Given the description of an element on the screen output the (x, y) to click on. 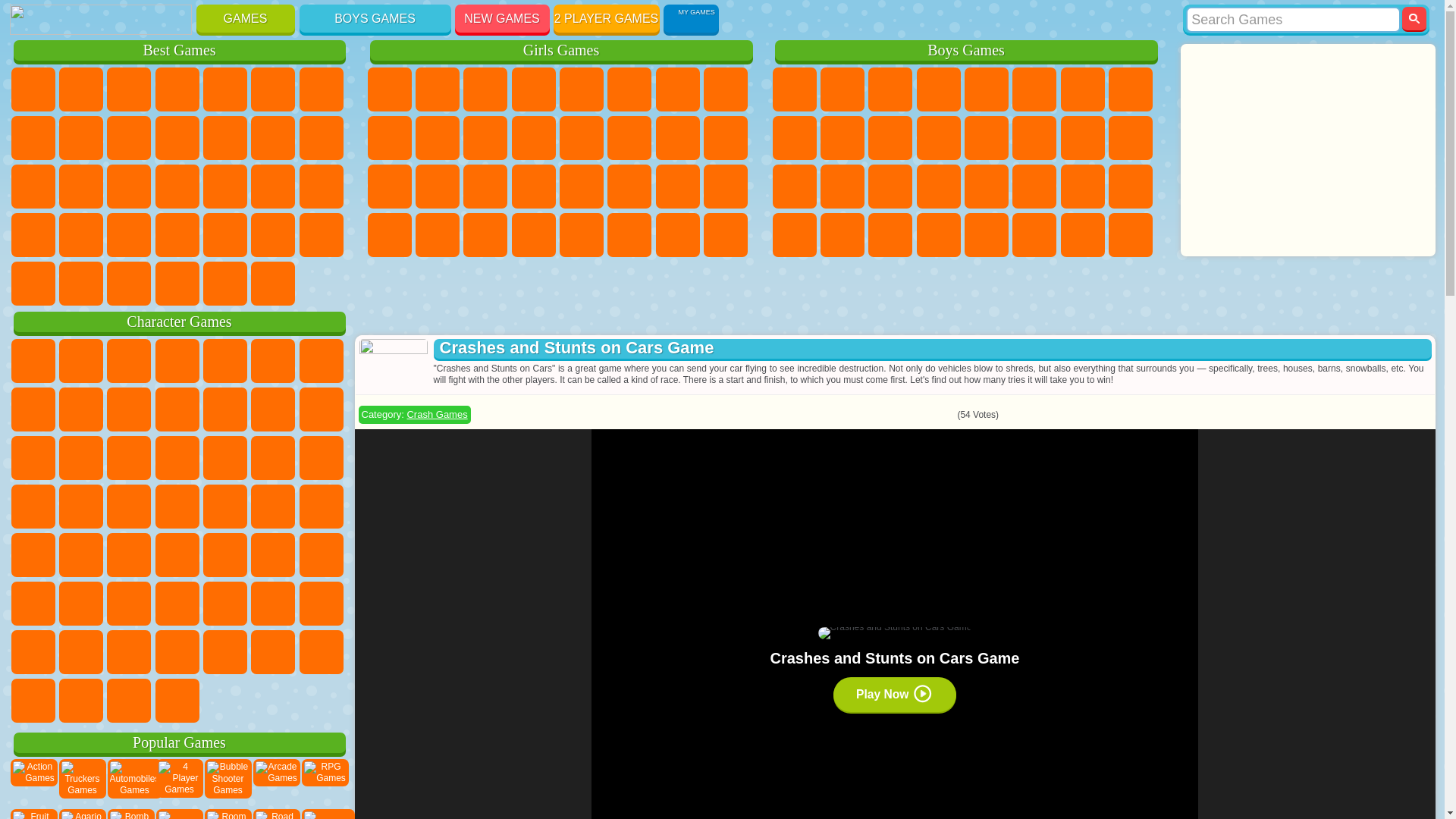
Bus (793, 234)
Ben 10 (1083, 186)
Parking Games (793, 89)
Strategy (889, 89)
GAMES (244, 18)
Police (793, 186)
Truck Games (938, 137)
Running (889, 234)
Car Eats Car (986, 186)
Fighting Games (986, 137)
2 PLAYER GAMES (606, 18)
Battle Royale Games (1034, 89)
Robber (938, 186)
BOYS GAMES (373, 18)
Racing Games (1034, 137)
